Given the description of an element on the screen output the (x, y) to click on. 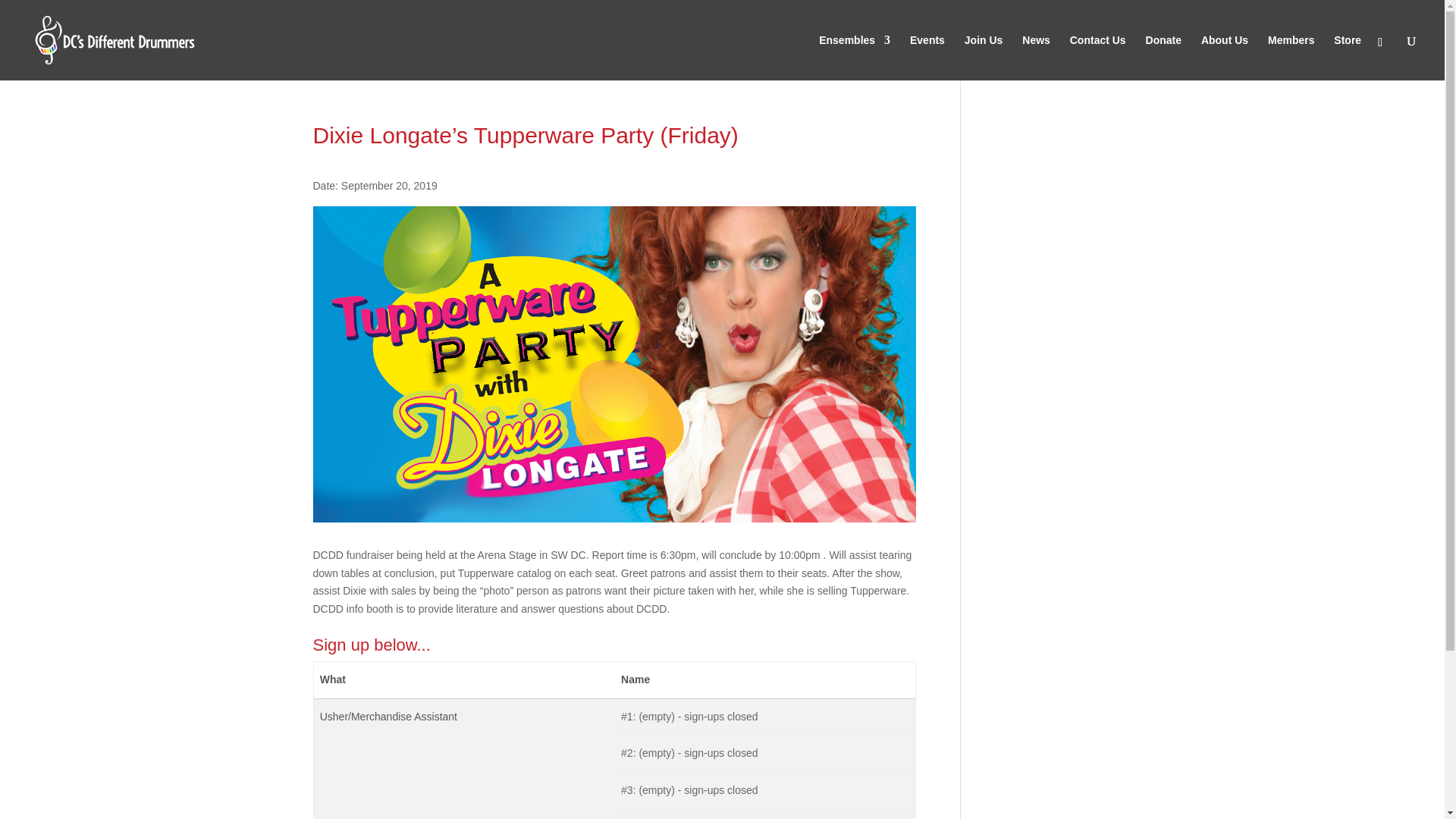
About Us (1224, 57)
Contact Us (1097, 57)
Ensembles (853, 57)
Members (1291, 57)
